Given the description of an element on the screen output the (x, y) to click on. 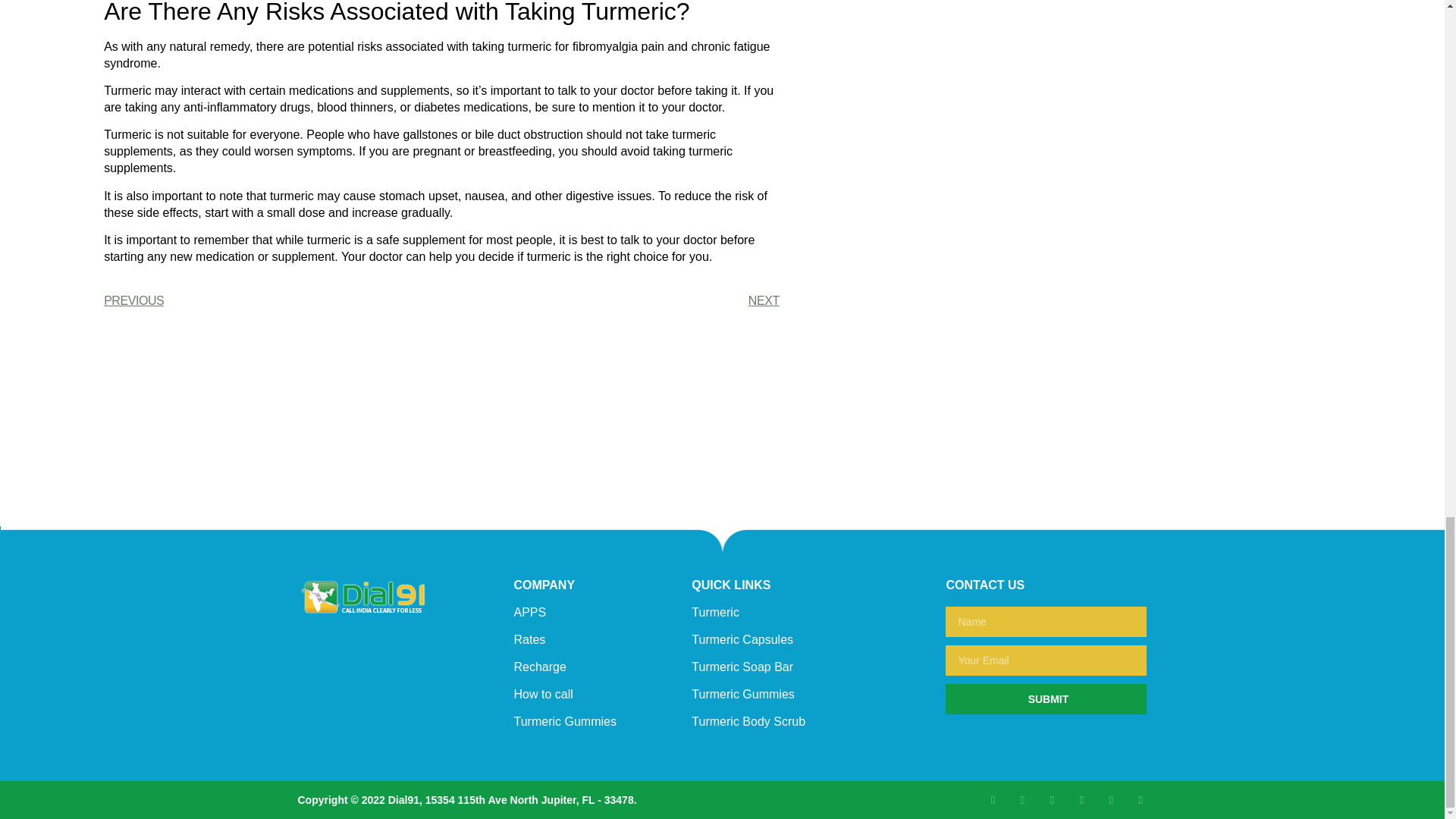
Recharge (539, 666)
Rates (529, 639)
NEXT (609, 300)
Turmeric Gummies (564, 721)
Turmeric (715, 612)
APPS (530, 612)
How to call (543, 694)
PREVIOUS (272, 300)
